Given the description of an element on the screen output the (x, y) to click on. 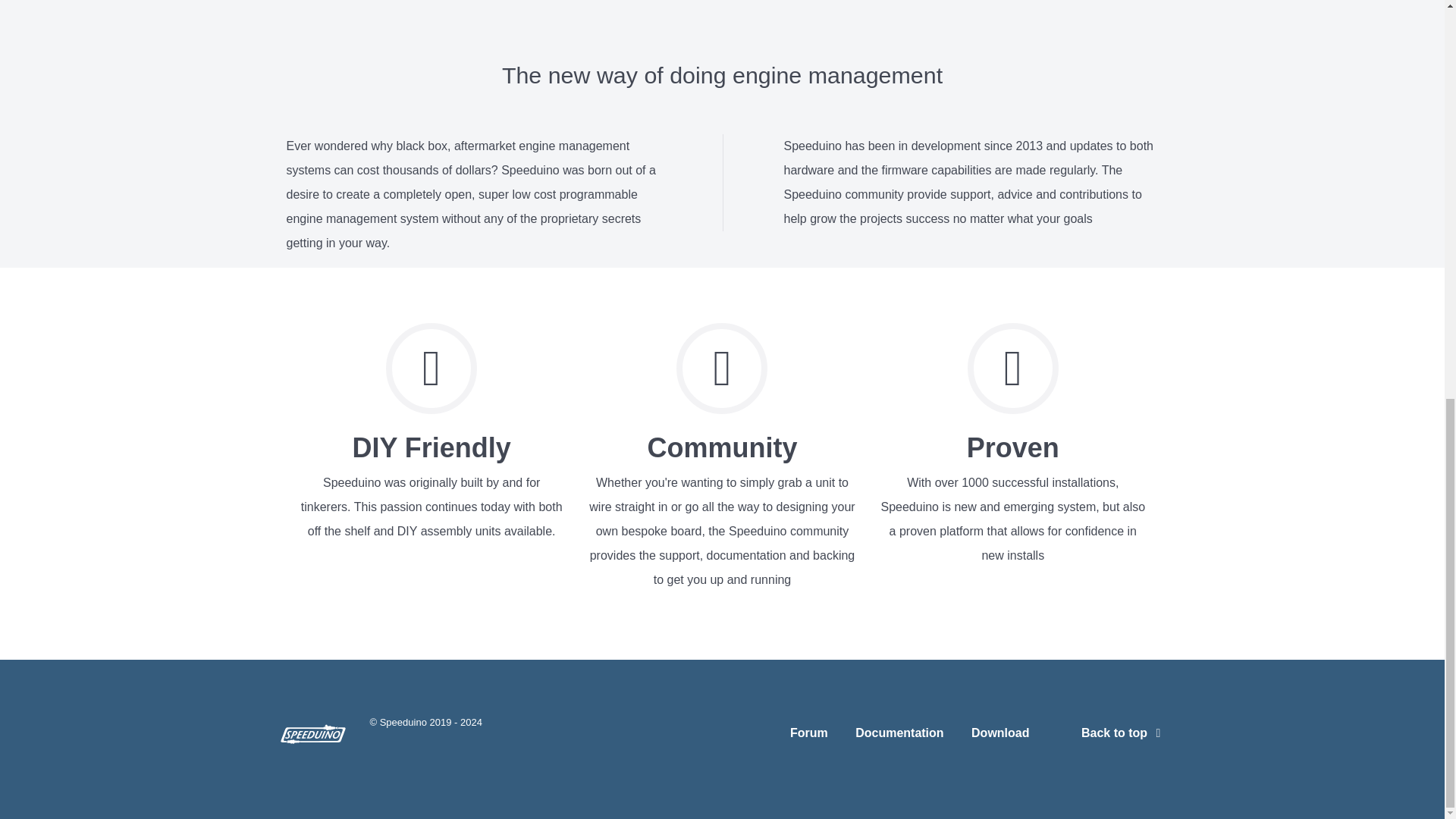
Back to top (1123, 732)
Documentation (899, 736)
Download (1000, 736)
Forum (809, 736)
Download (1000, 736)
Documentation (899, 736)
Forum (809, 736)
Back to top (1123, 732)
